Given the description of an element on the screen output the (x, y) to click on. 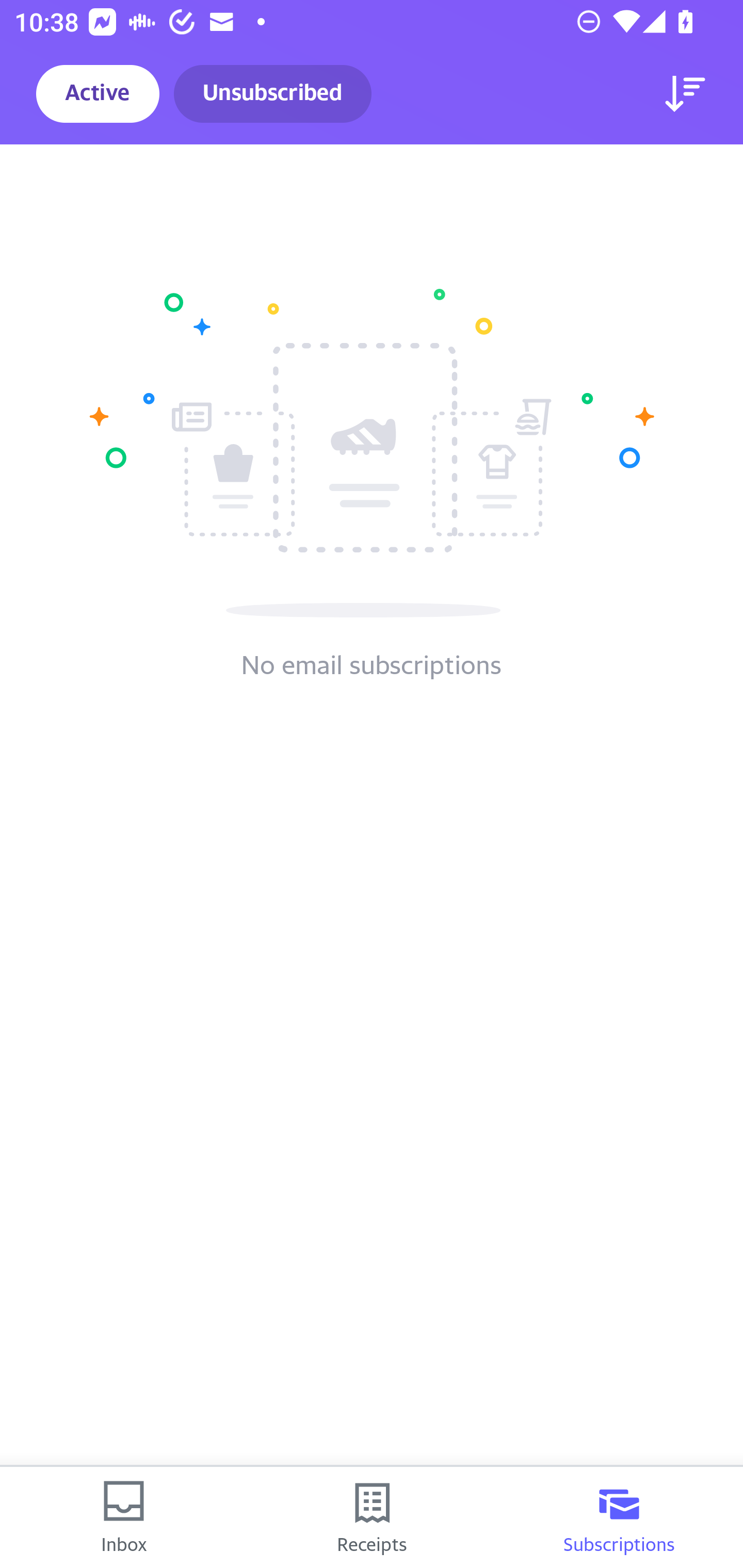
Unsubscribed (272, 93)
Sort (684, 93)
Inbox (123, 1517)
Receipts (371, 1517)
Subscriptions (619, 1517)
